Given the description of an element on the screen output the (x, y) to click on. 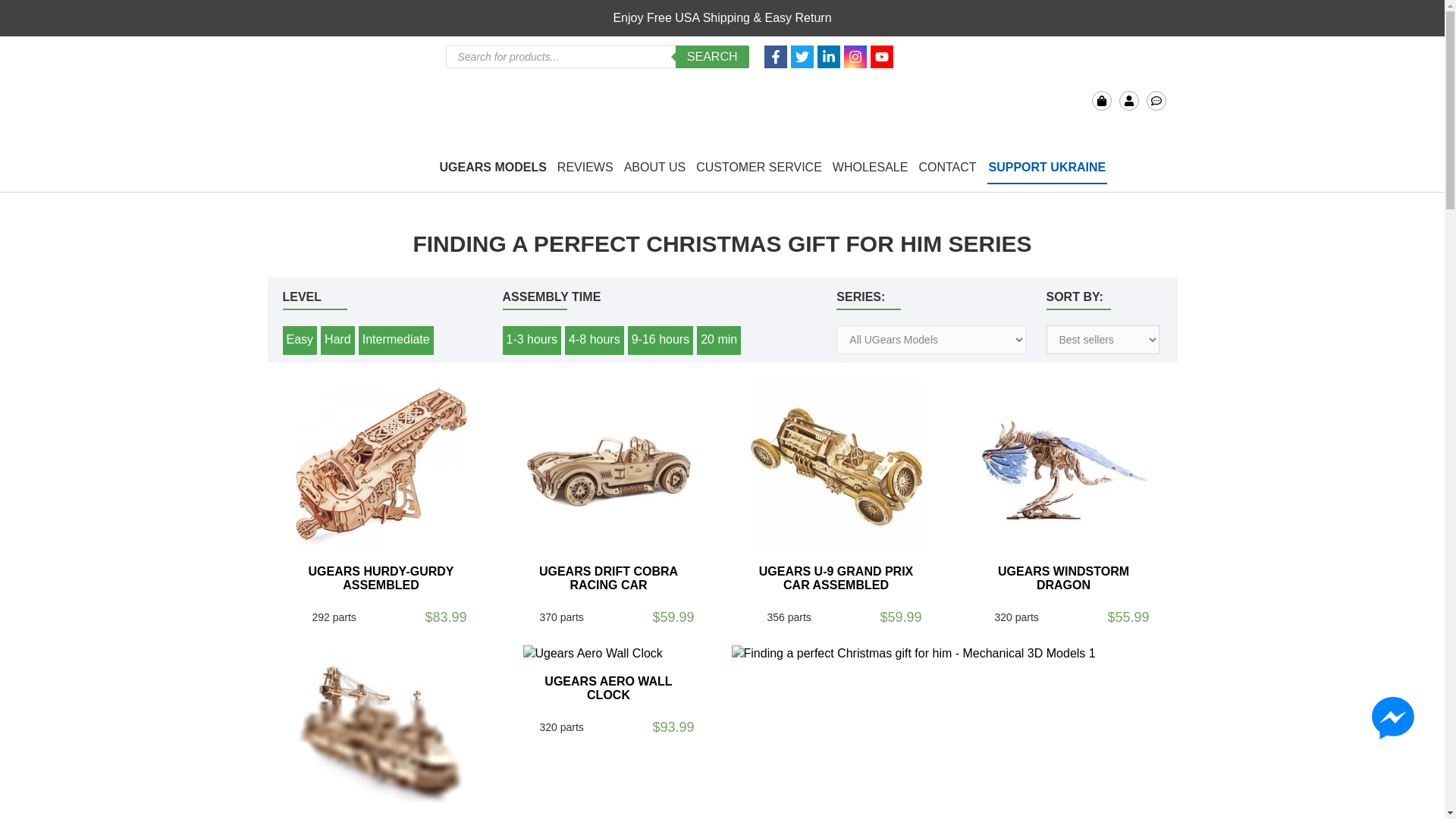
20 min (719, 339)
REVIEWS (584, 168)
9-16 hours (660, 339)
WHOLESALE (870, 168)
Easy (299, 339)
SUPPORT UKRAINE (1047, 168)
SEARCH (712, 56)
Ugears Windstorm Dragon (1064, 466)
UGEARS HURDY-GURDY ASSEMBLED (379, 578)
UGears Mechanical Wooden Model 3D Puzzle Kit Research Vessel (381, 730)
